Given the description of an element on the screen output the (x, y) to click on. 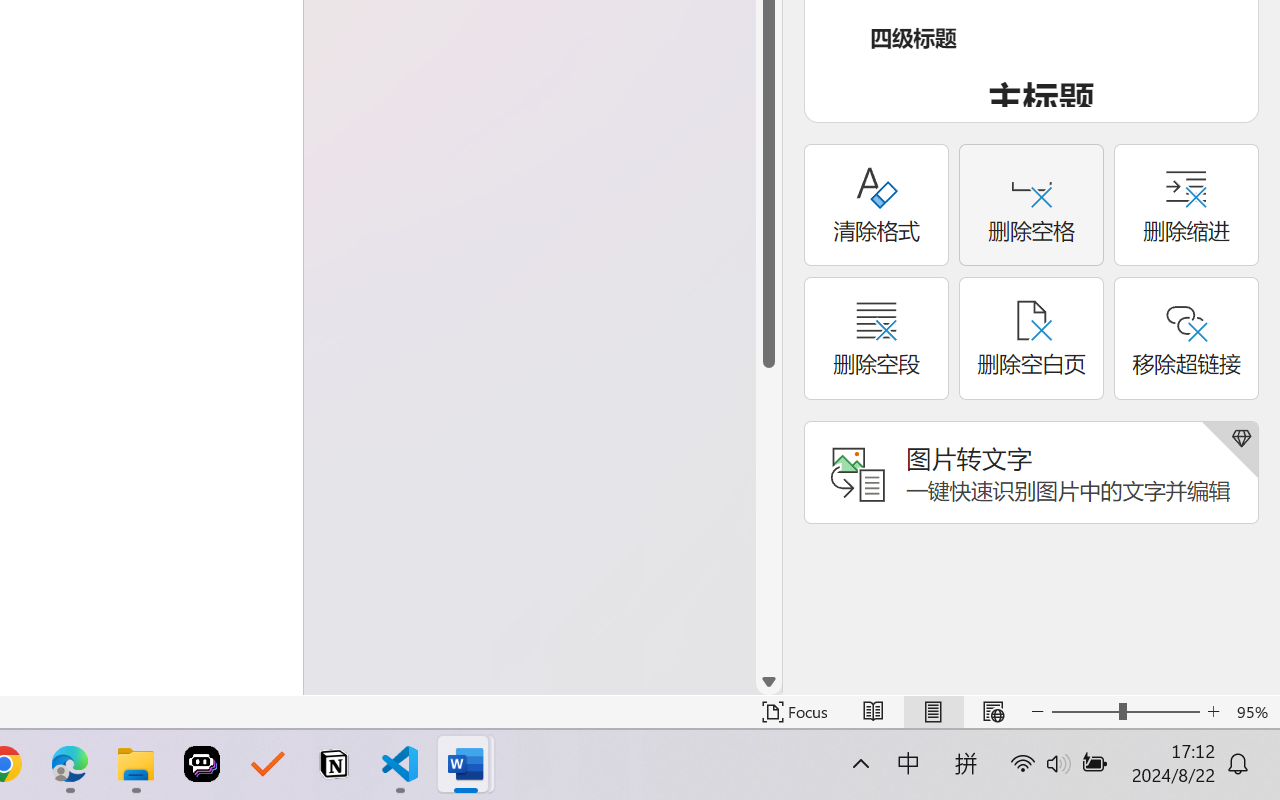
Zoom 95% (1253, 712)
